Given the description of an element on the screen output the (x, y) to click on. 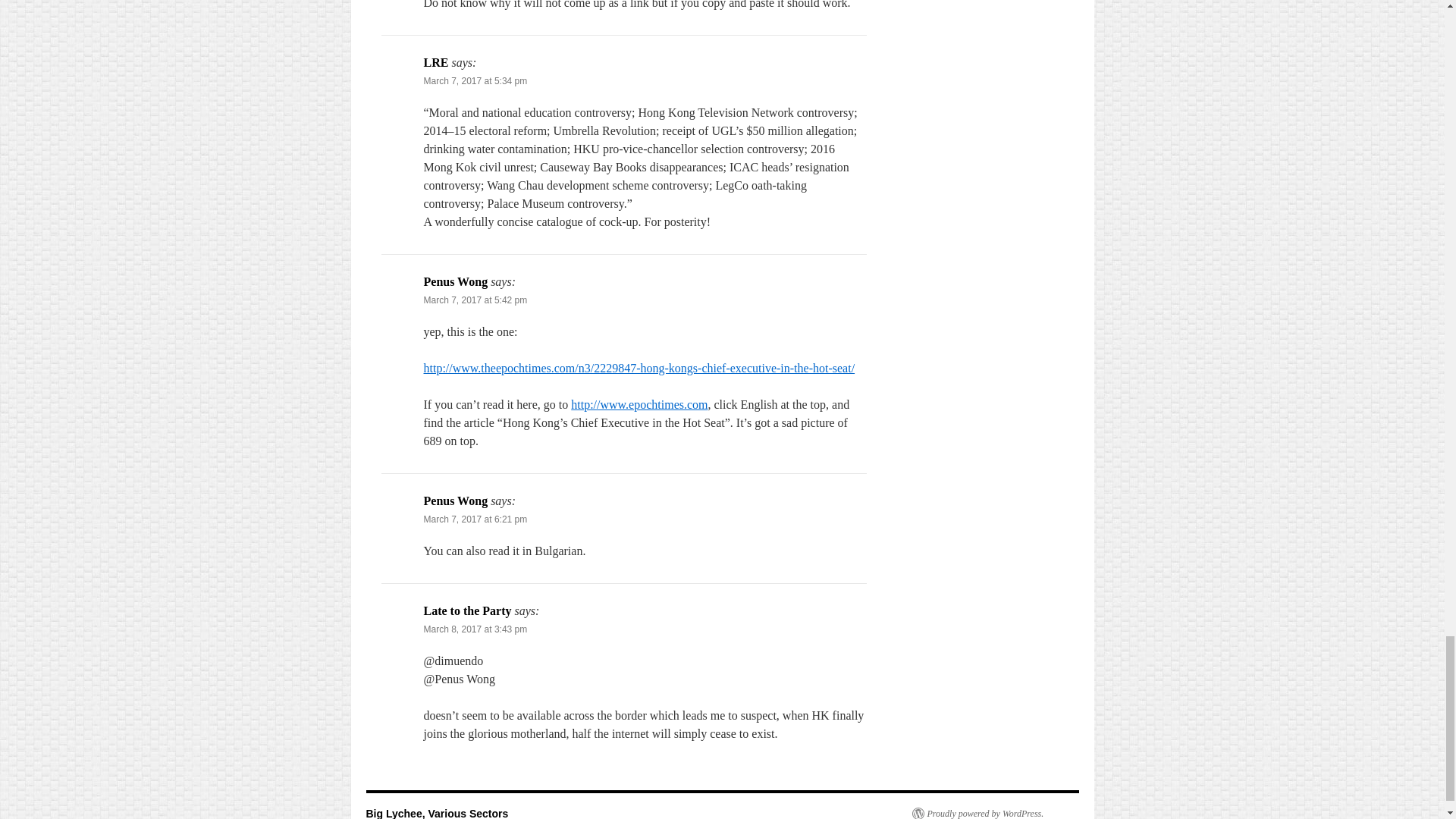
March 8, 2017 at 3:43 pm (475, 629)
March 7, 2017 at 5:34 pm (475, 81)
March 7, 2017 at 6:21 pm (475, 519)
March 7, 2017 at 5:42 pm (475, 299)
